Given the description of an element on the screen output the (x, y) to click on. 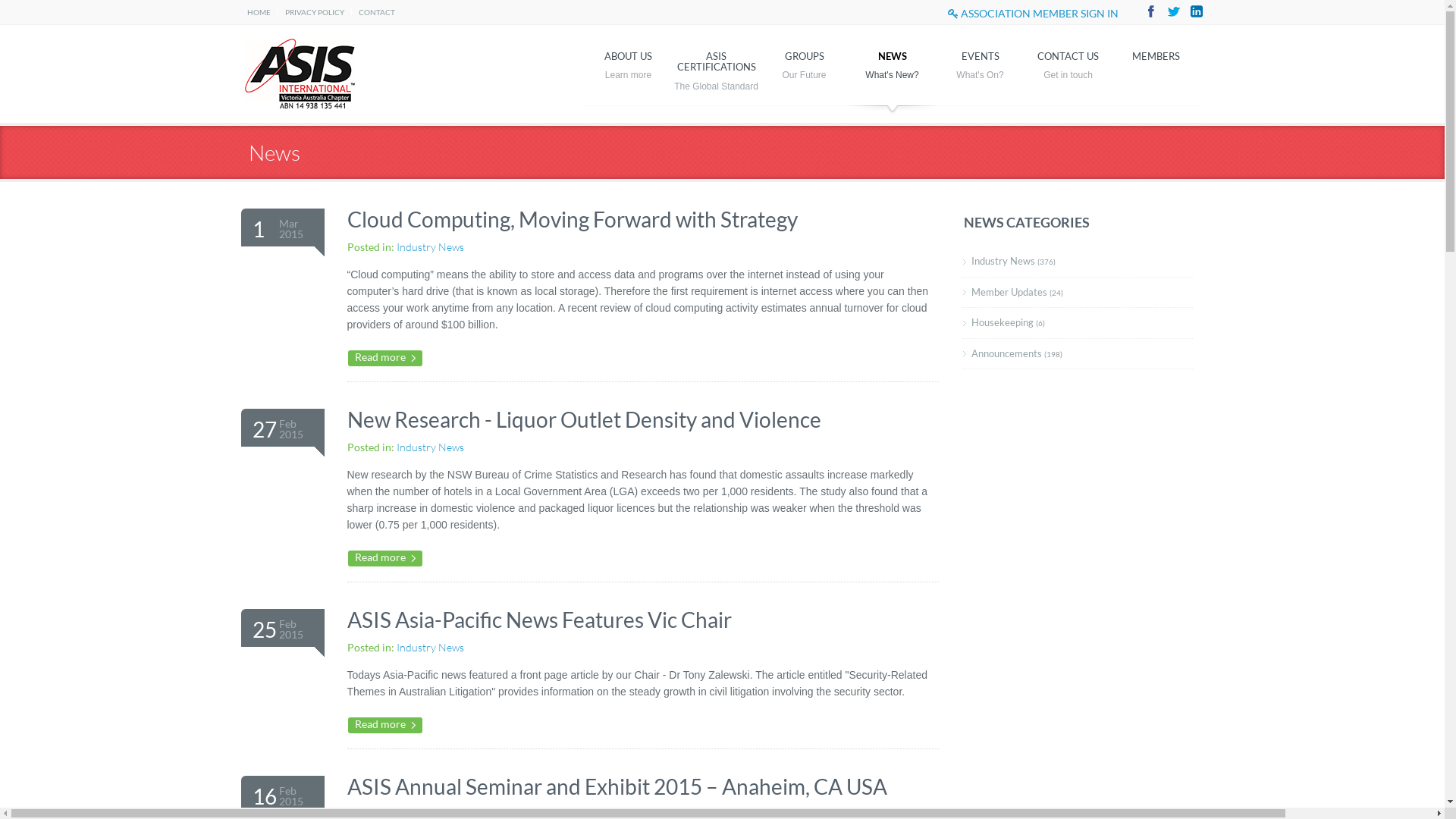
Industry News Element type: text (429, 246)
Industry News Element type: text (429, 646)
ASIS CERTIFICATIONS Element type: text (715, 70)
CONTACT Element type: text (375, 11)
Industry News Element type: text (429, 446)
Industry News (376) Element type: text (1076, 261)
ABOUT US Element type: text (627, 70)
NEWS Element type: text (891, 70)
HOME Element type: text (258, 11)
PRIVACY POLICY Element type: text (314, 11)
ASIS Asia-Pacific News Features Vic Chair Element type: text (539, 619)
Housekeeping (6) Element type: text (1076, 322)
Announcements (198) Element type: text (1076, 353)
Read more Element type: text (384, 358)
CONTACT US Element type: text (1067, 70)
Read more Element type: text (384, 558)
Member Updates (24) Element type: text (1076, 292)
MEMBERS Element type: text (1155, 70)
Cloud Computing, Moving Forward with Strategy Element type: text (572, 219)
New Research - Liquor Outlet Density and Violence Element type: text (584, 419)
GROUPS Element type: text (803, 70)
ASSOCIATION MEMBER SIGN IN Element type: text (1032, 12)
Read more Element type: text (384, 725)
EVENTS Element type: text (979, 70)
